Given the description of an element on the screen output the (x, y) to click on. 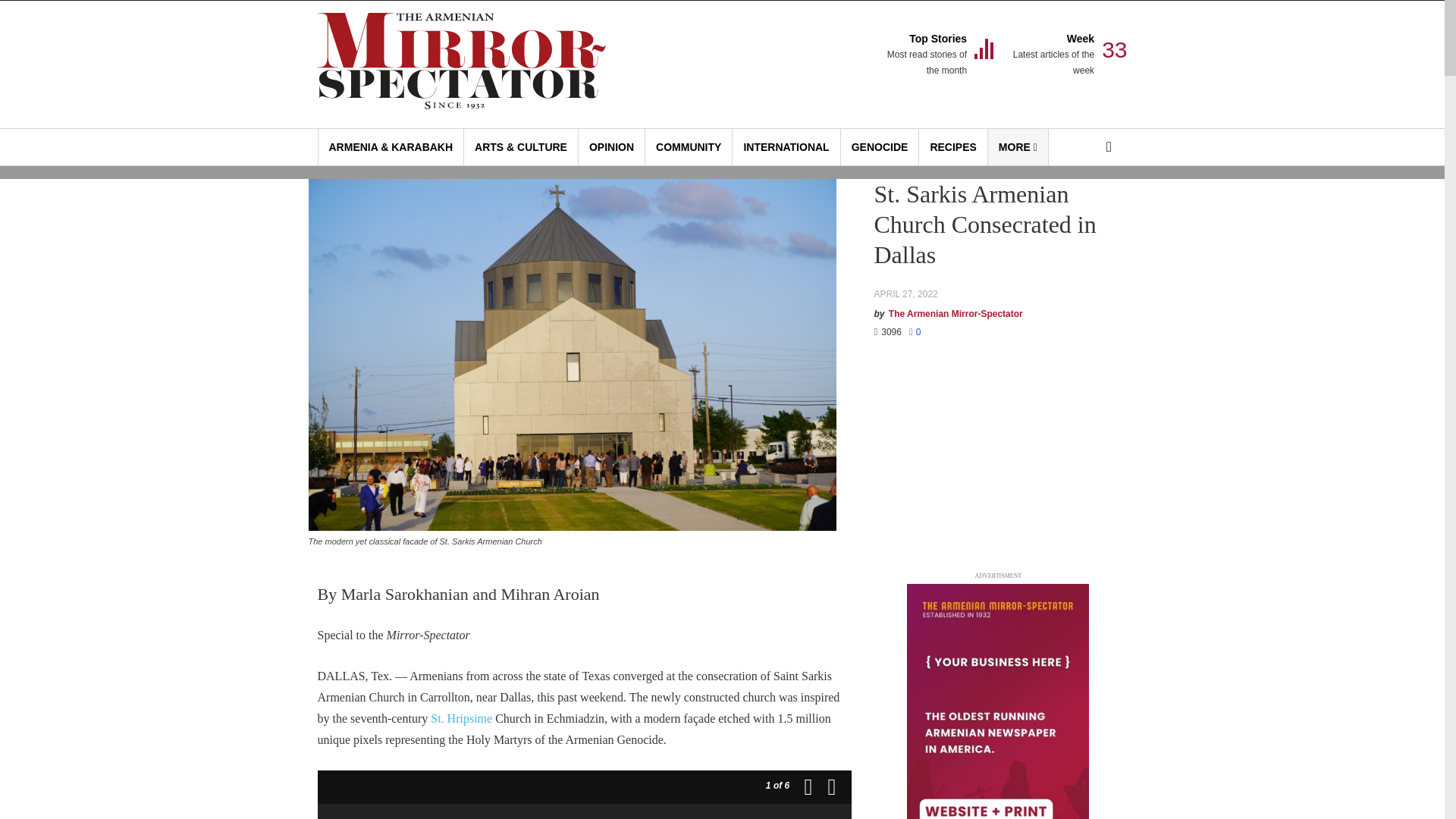
INTERNATIONAL (786, 146)
COMMUNITY (924, 54)
MORE (688, 146)
RECIPES (1018, 146)
OPINION (952, 146)
TexasChurch 3 (611, 146)
